Given the description of an element on the screen output the (x, y) to click on. 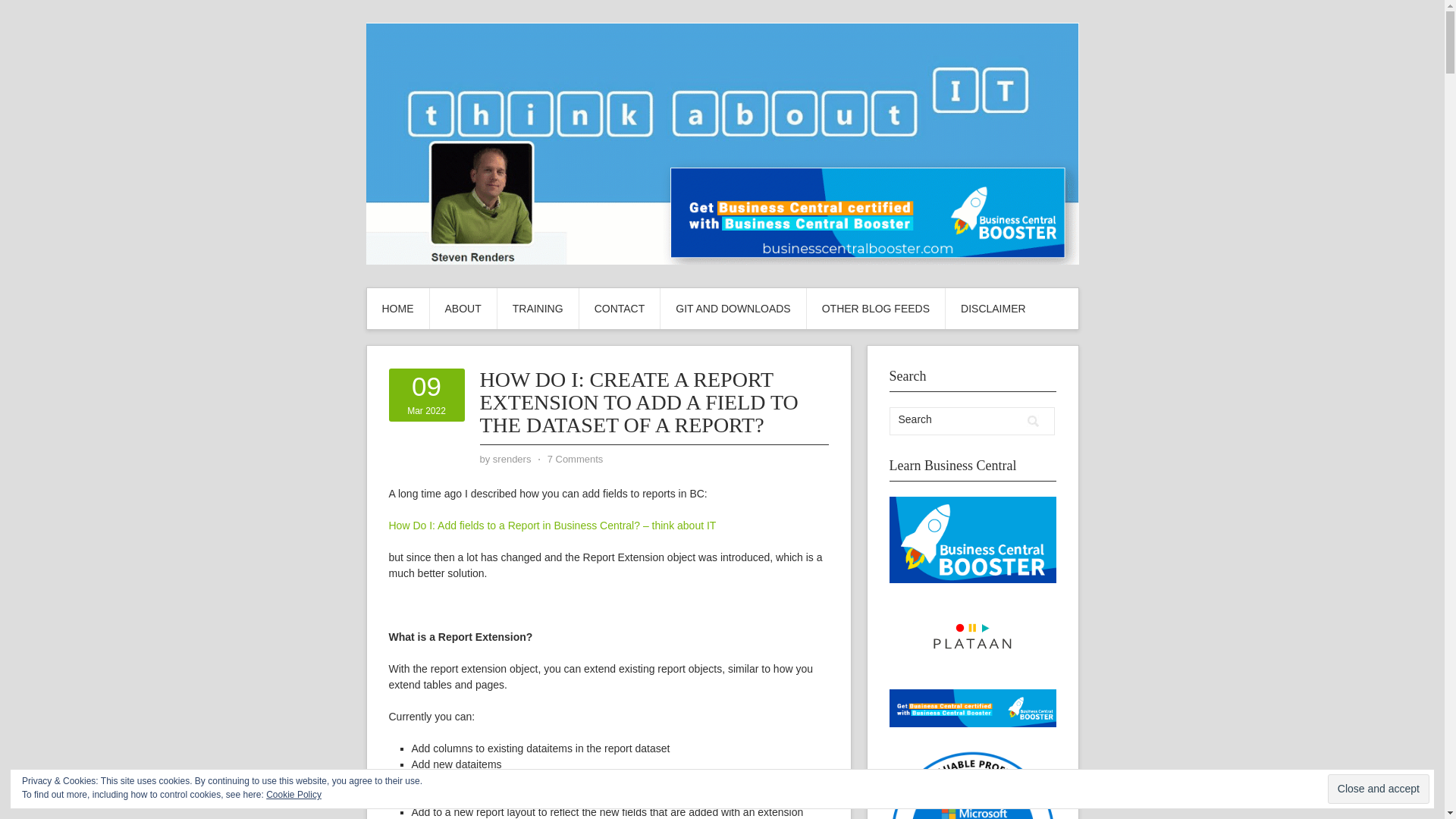
srenders (512, 459)
by srenders (512, 459)
GIT AND DOWNLOADS (733, 308)
7 Comments (575, 459)
DISCLAIMER (992, 308)
March 9, 2022 13:34 (426, 394)
OTHER BLOG FEEDS (875, 308)
Learn Business Central (971, 539)
Search (1032, 421)
Search (954, 418)
